Given the description of an element on the screen output the (x, y) to click on. 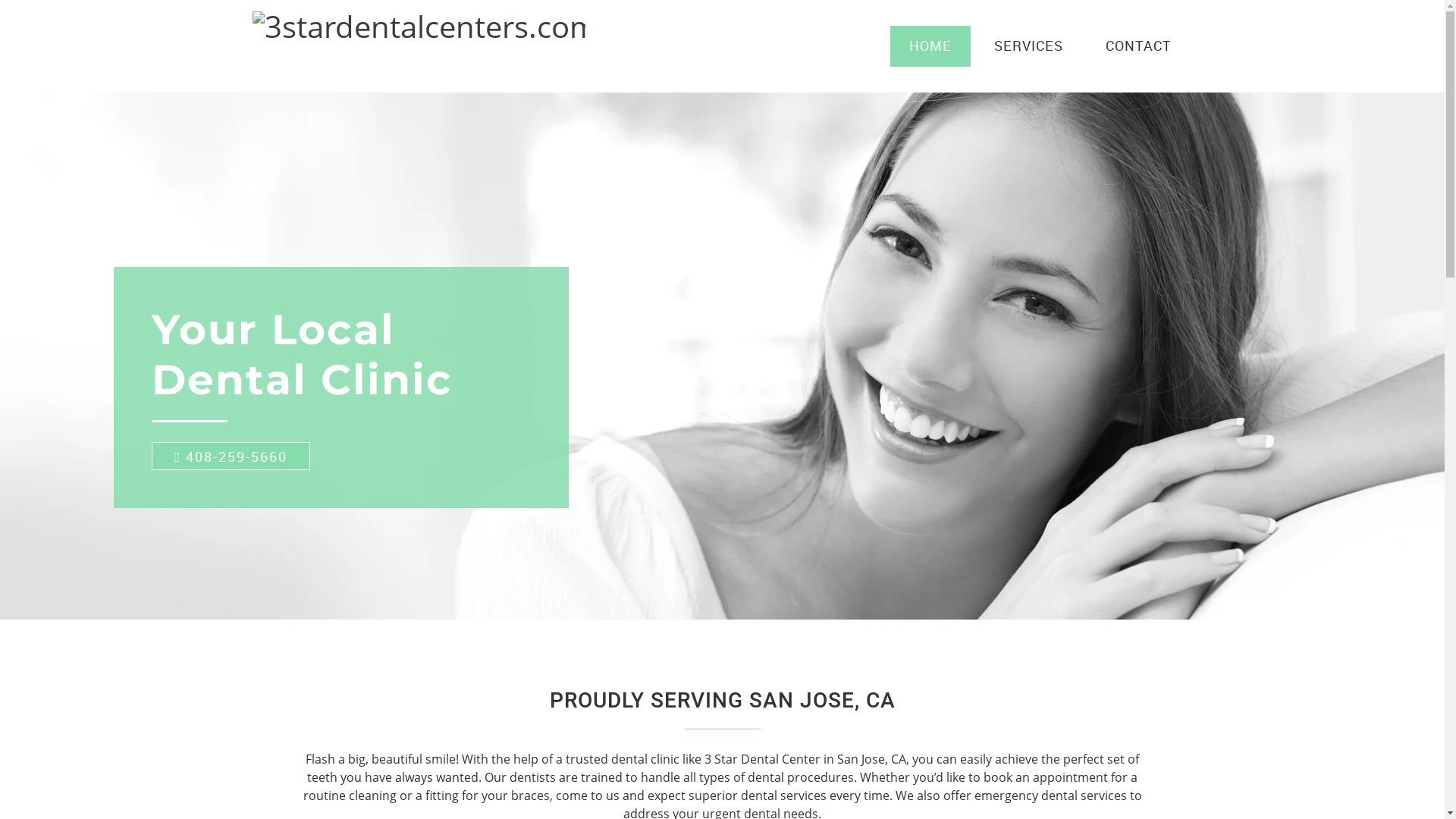
CONTACT Element type: text (1137, 45)
SERVICES Element type: text (1028, 45)
Go to site home page Element type: hover (417, 26)
HOME Element type: text (930, 45)
Go to site home page Element type: hover (327, 46)
